Given the description of an element on the screen output the (x, y) to click on. 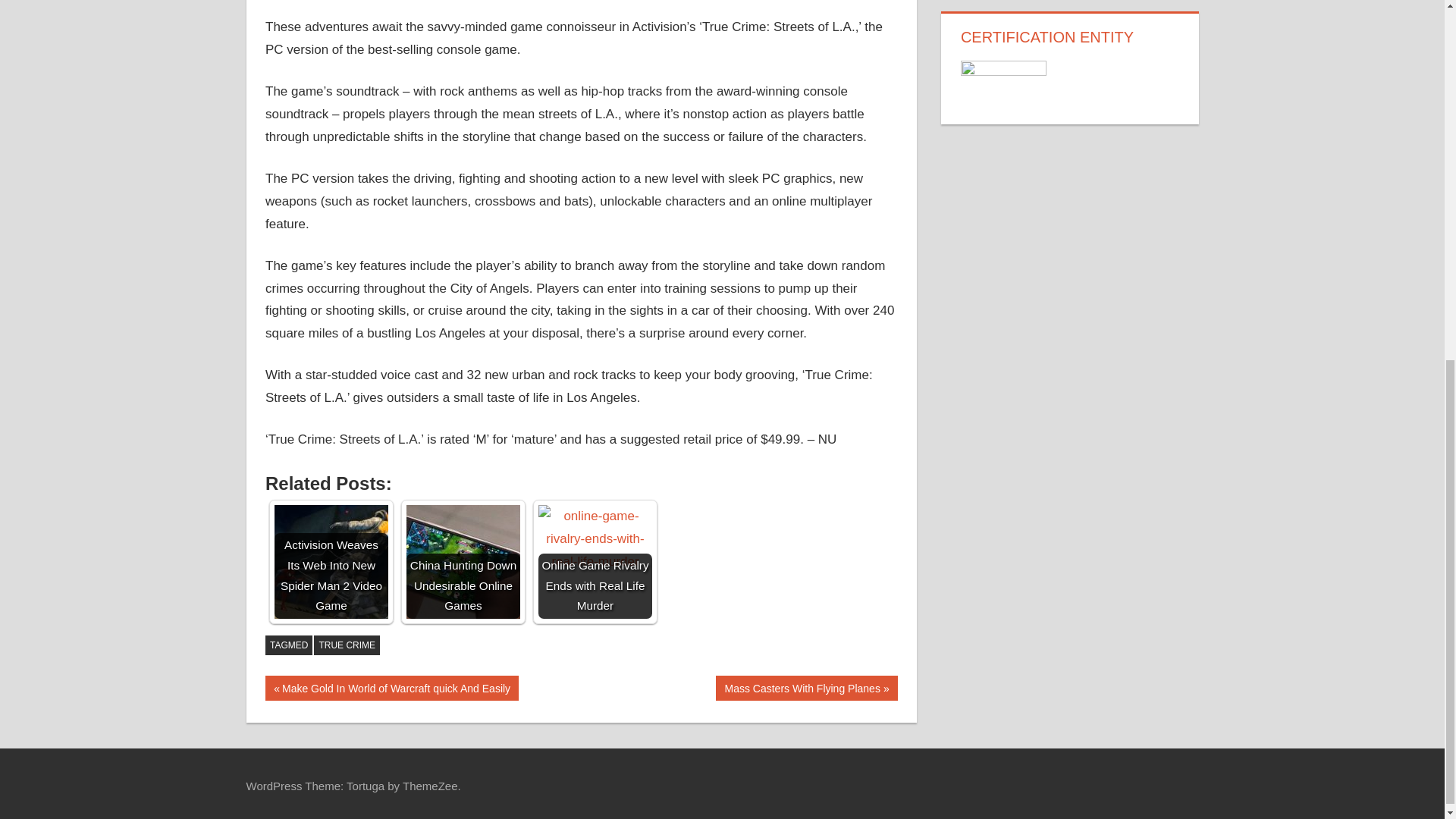
Activision Weaves Its Web Into New Spider Man 2 Video Game (331, 562)
Online Game Rivalry Ends with Real Life Murder (595, 562)
Online Game Rivalry Ends with Real Life Murder (595, 538)
China Hunting Down Undesirable Online Games (462, 562)
TRUE CRIME (347, 645)
TAGMED (288, 645)
Activision Weaves Its Web Into New Spider Man 2 Video Game (807, 688)
China Hunting Down Undesirable Online Games (331, 562)
